Given the description of an element on the screen output the (x, y) to click on. 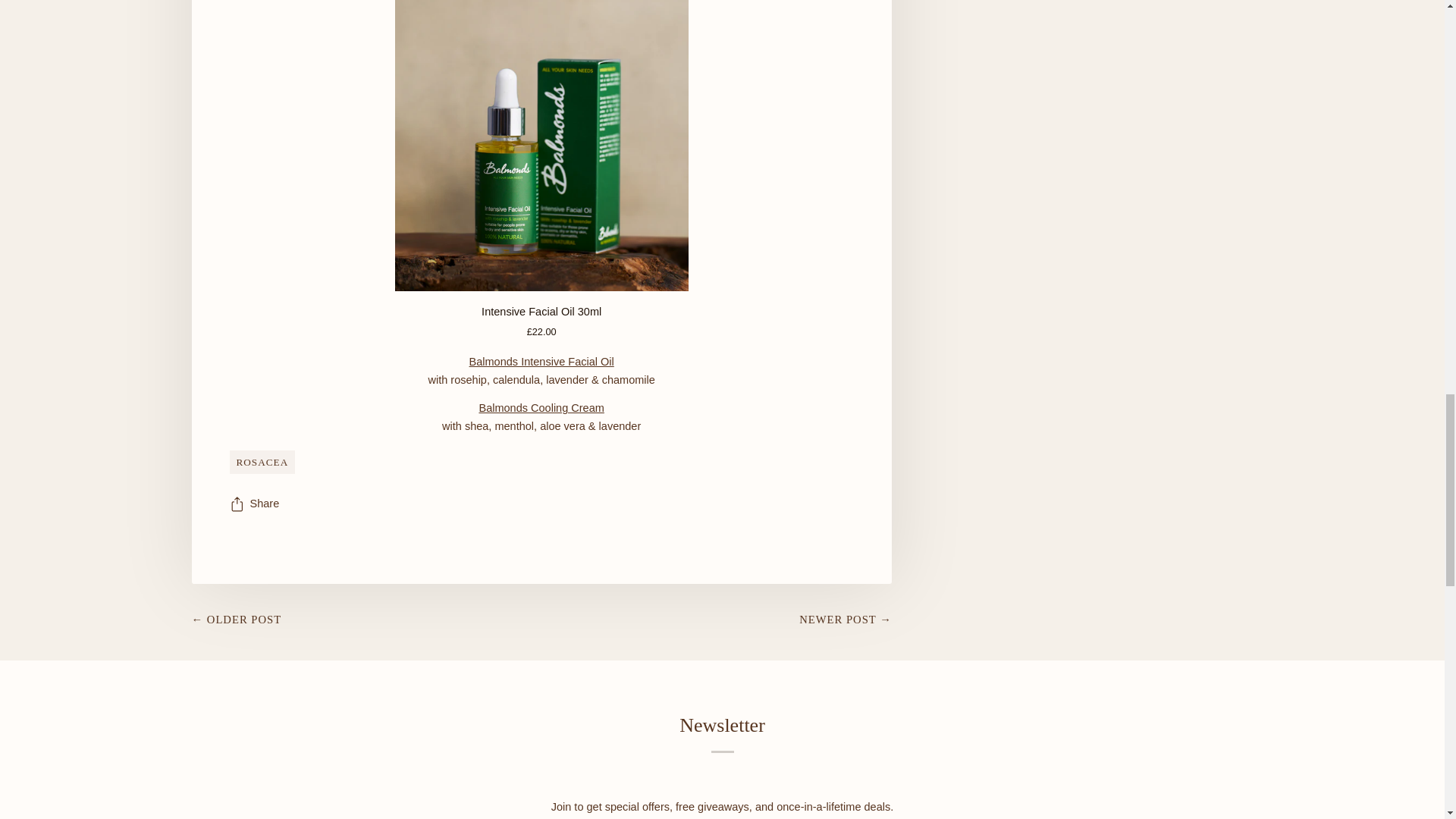
Balmonds Cooling Cream (541, 408)
Balmonds Intensive Facial Oil (541, 361)
